Given the description of an element on the screen output the (x, y) to click on. 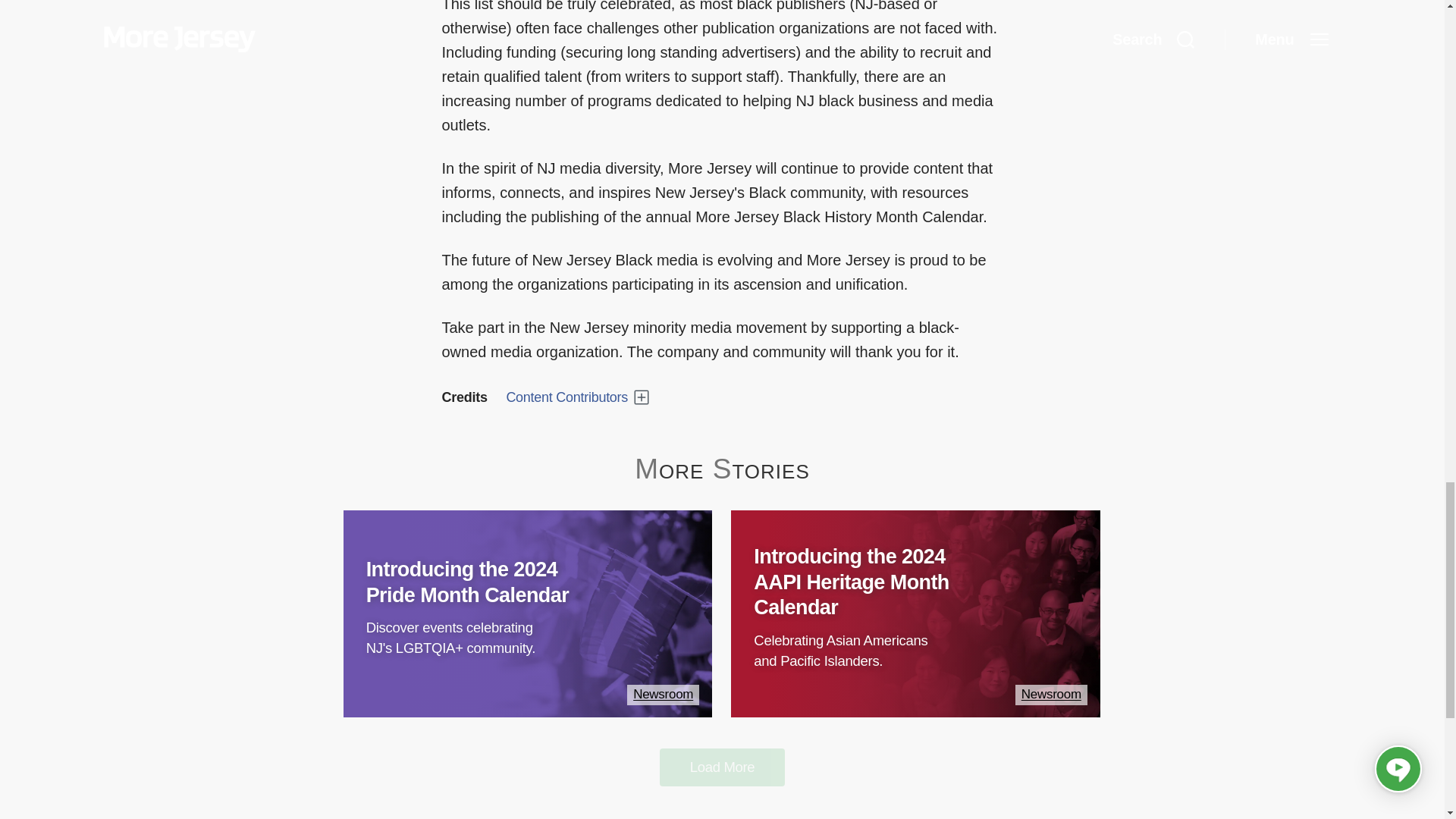
Display Contributors (577, 396)
